Given the description of an element on the screen output the (x, y) to click on. 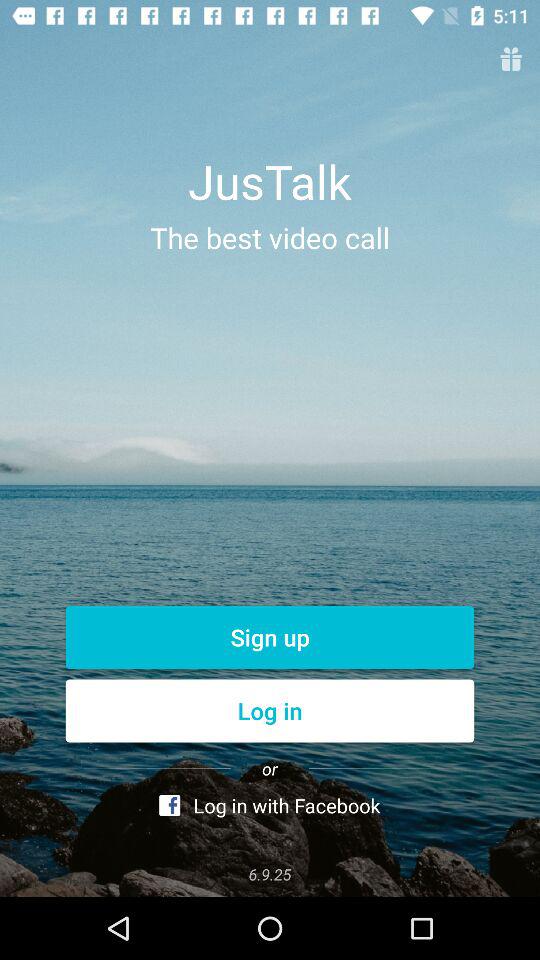
menu option (510, 60)
